Given the description of an element on the screen output the (x, y) to click on. 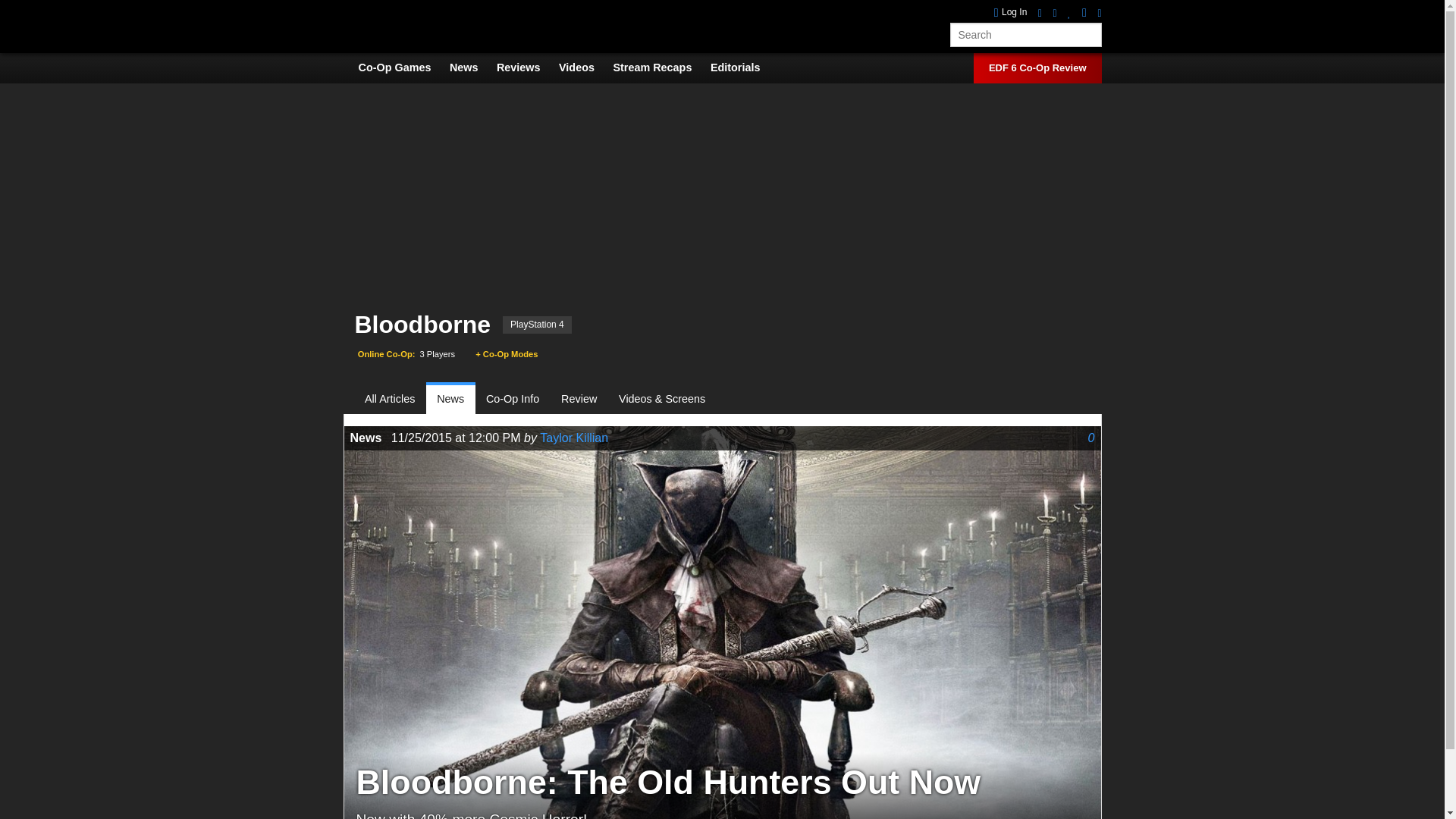
Stream Recaps (659, 67)
login (1010, 11)
All Articles (395, 398)
Review (579, 398)
Editorials (743, 67)
PlayStation 4 (537, 324)
News (471, 67)
Co-Op Games (401, 67)
 Log In (1010, 11)
Reviews (526, 67)
EDF 6 Co-Op Review (1037, 67)
News (451, 398)
Taylor Killian (574, 437)
Videos (584, 67)
Weekly Video Streams and VODs from Co-Optimus (659, 67)
